Given the description of an element on the screen output the (x, y) to click on. 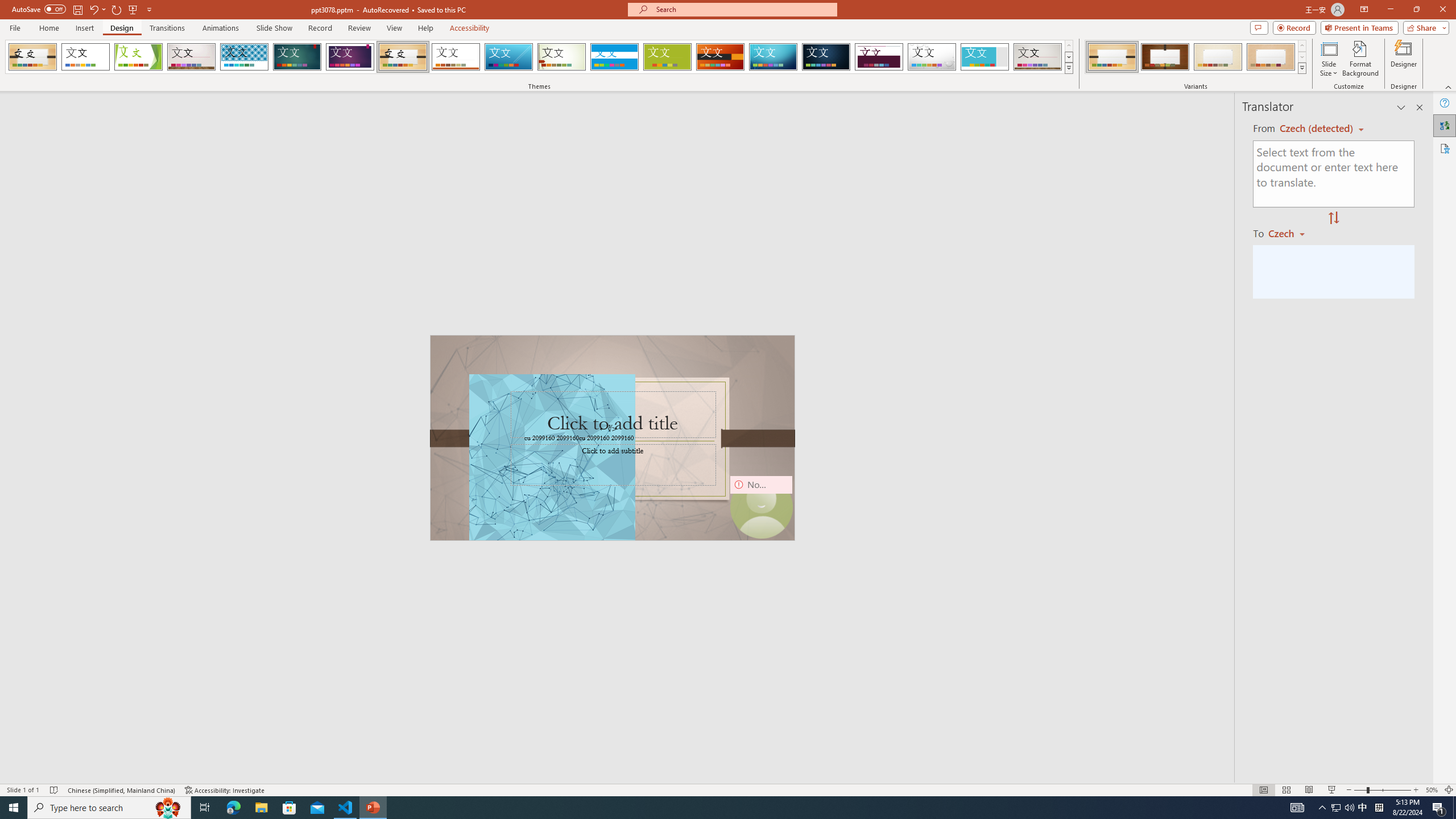
TextBox 7 (608, 428)
